Given the description of an element on the screen output the (x, y) to click on. 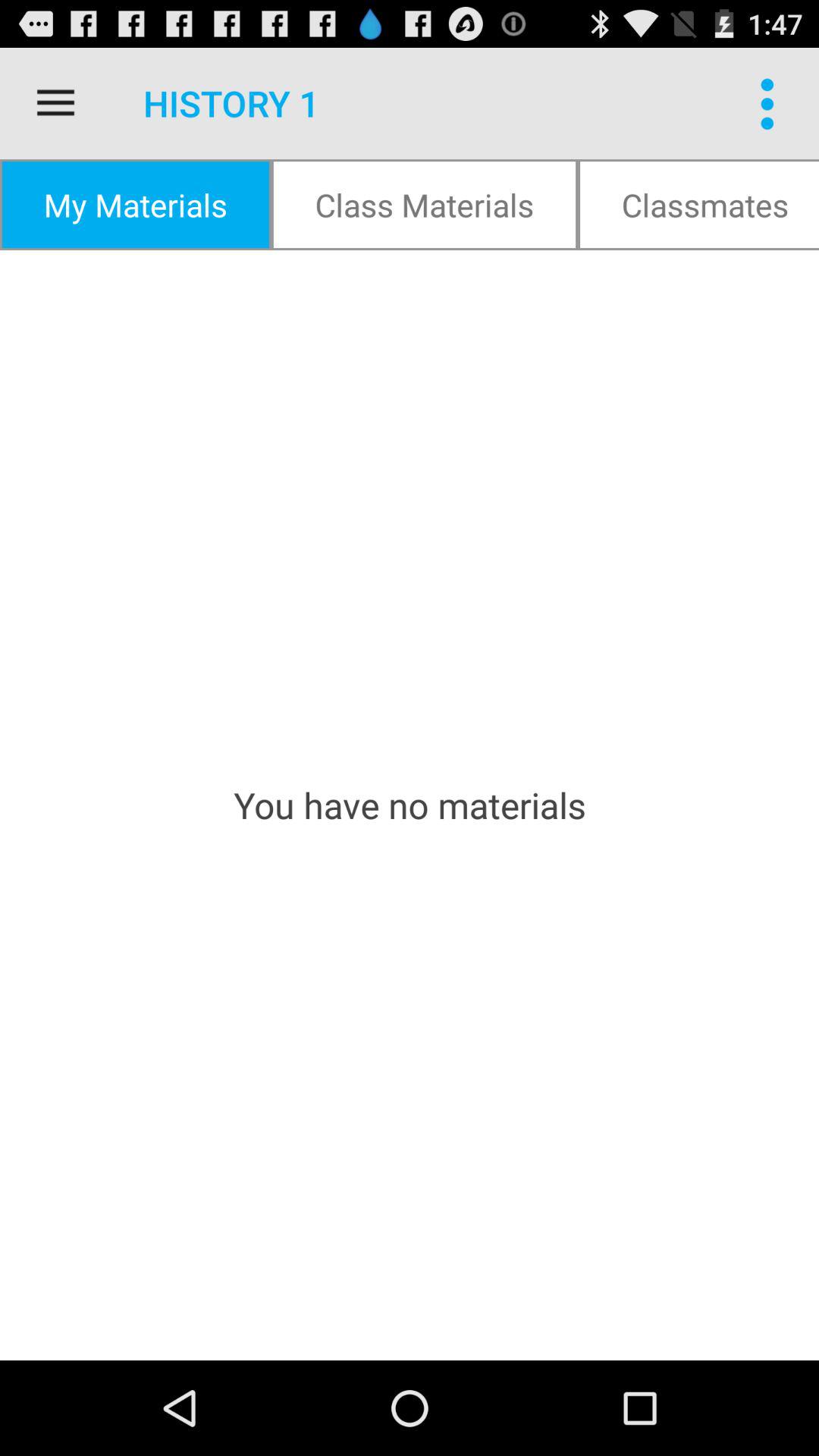
open the icon next to the class materials icon (698, 204)
